Given the description of an element on the screen output the (x, y) to click on. 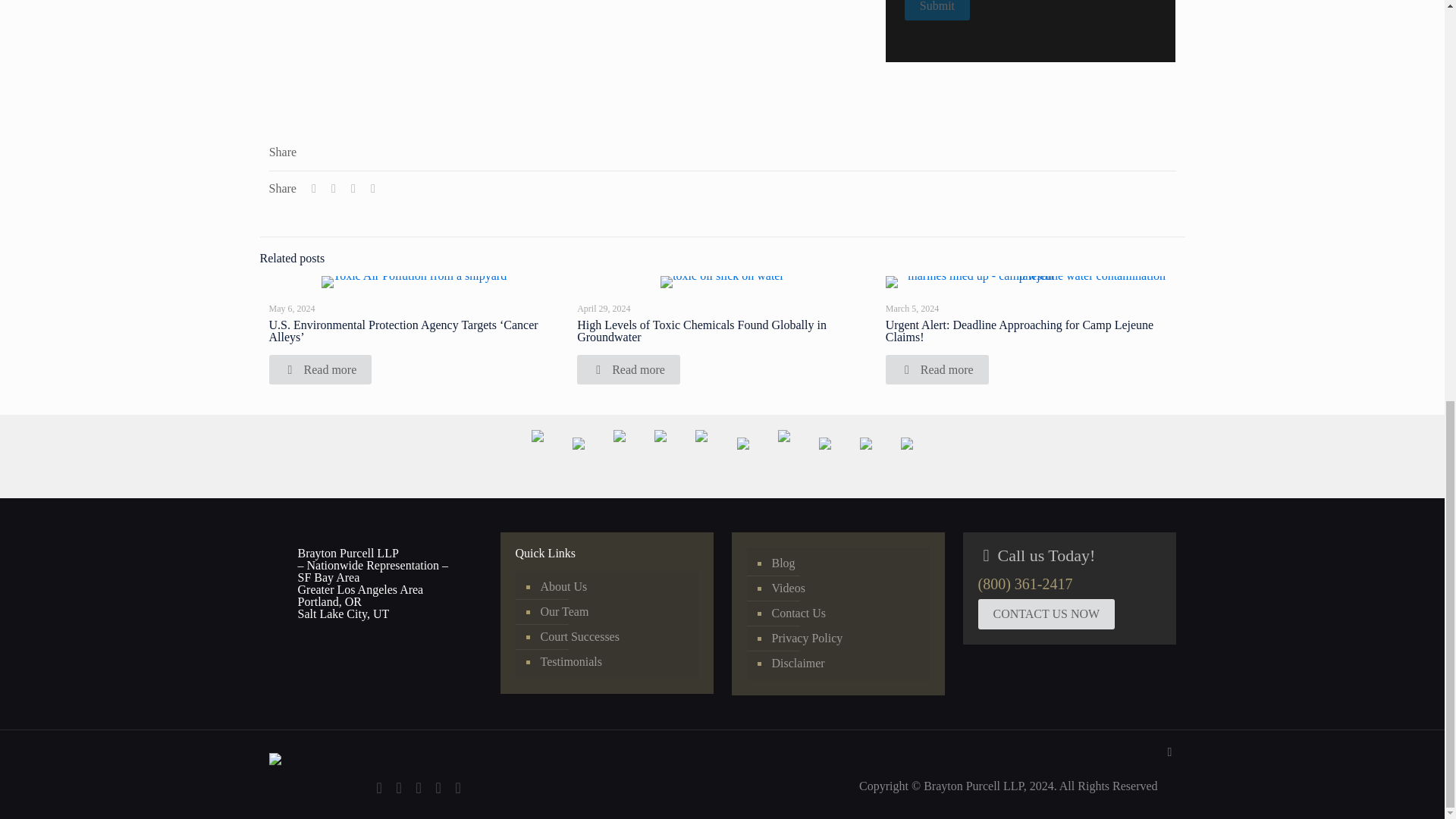
Pinterest (418, 788)
Instagram (437, 788)
Facebook (379, 788)
LinkedIn (398, 788)
Submit (936, 10)
